Given the description of an element on the screen output the (x, y) to click on. 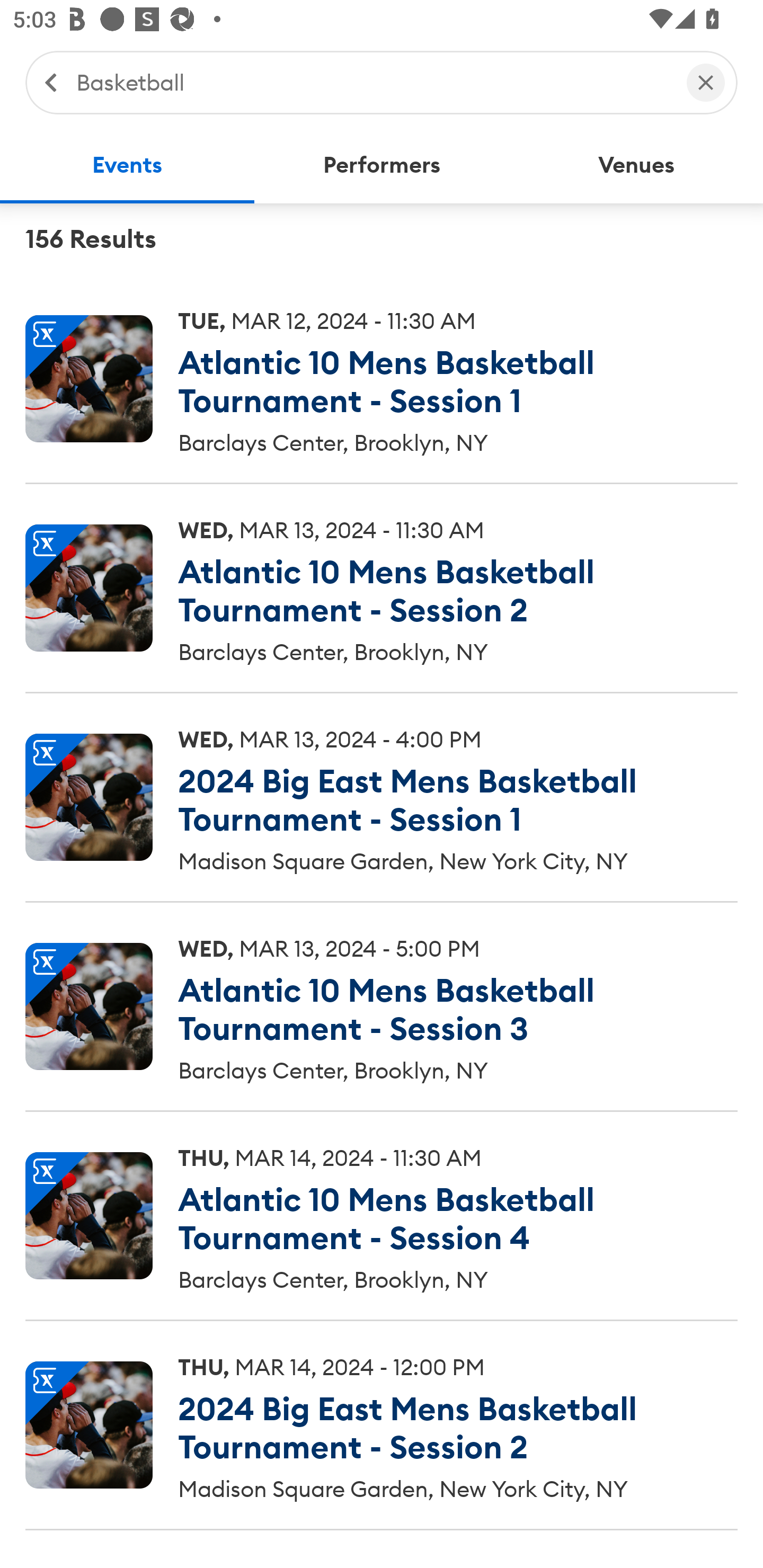
Basketball (371, 81)
Clear Search (705, 81)
Performers (381, 165)
Venues (635, 165)
